Given the description of an element on the screen output the (x, y) to click on. 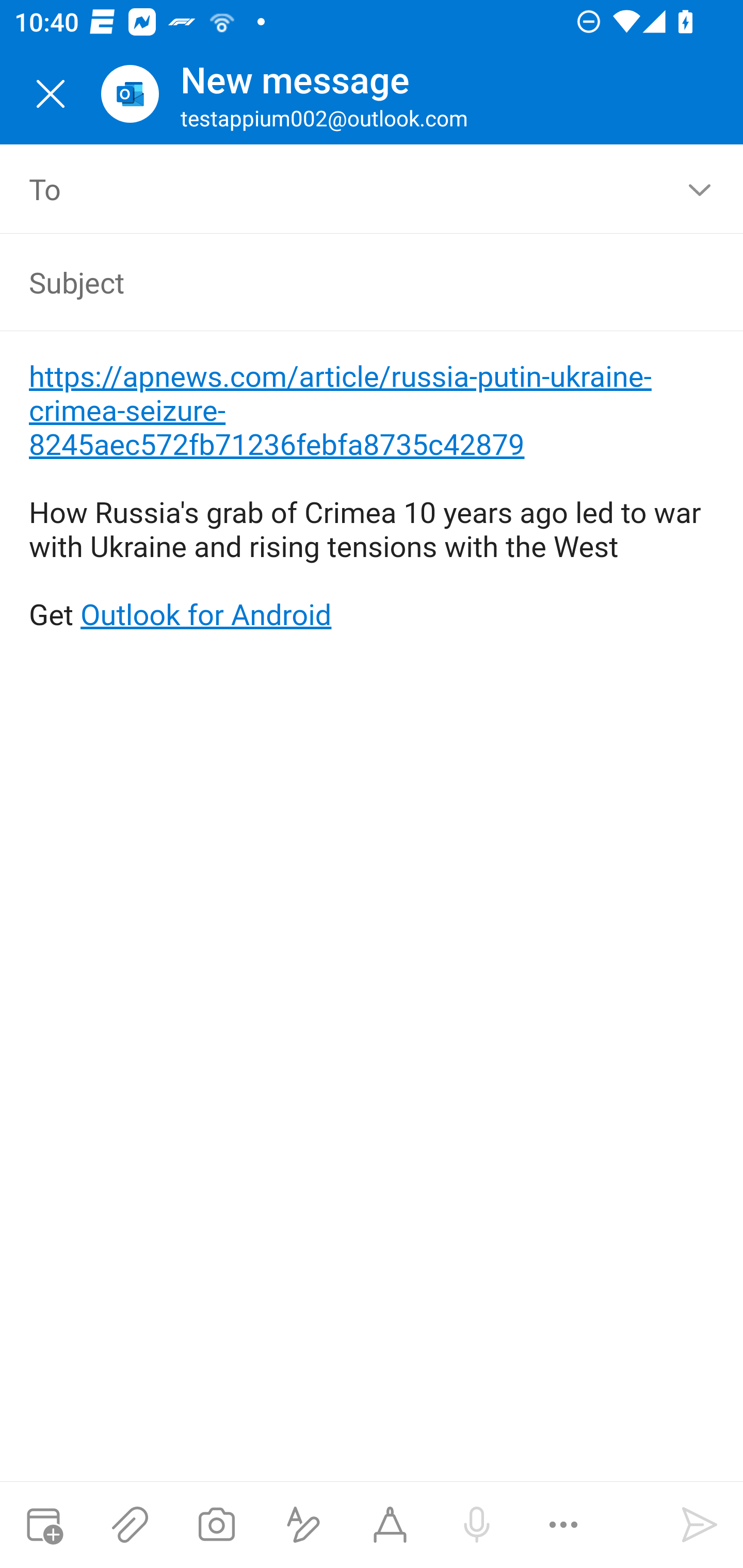
Close (50, 93)
Subject (342, 281)
Attach meeting (43, 1524)
Attach files (129, 1524)
Take a photo (216, 1524)
Show formatting options (303, 1524)
Start Ink compose (389, 1524)
More options (563, 1524)
Send (699, 1524)
